Given the description of an element on the screen output the (x, y) to click on. 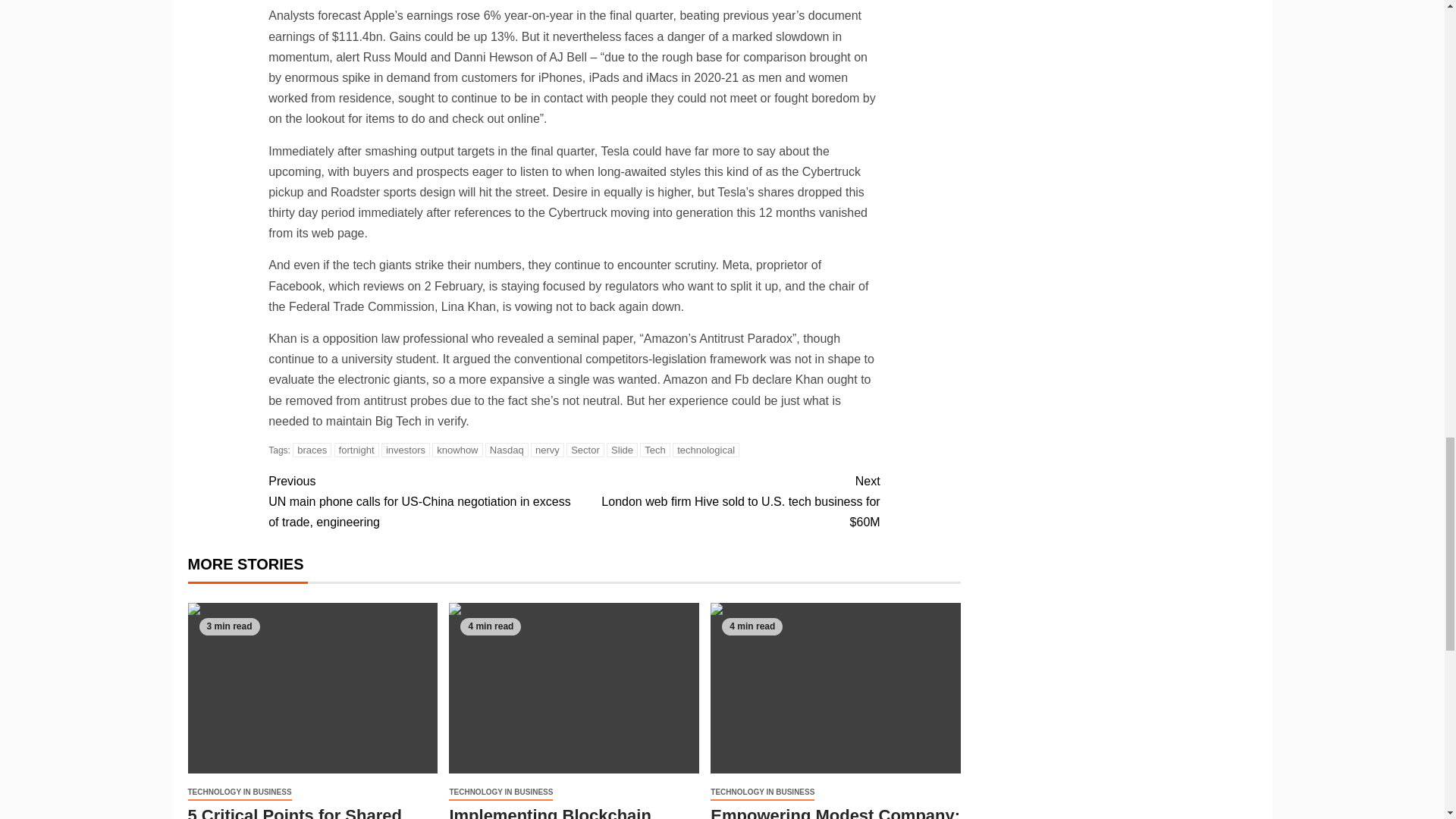
technological (705, 450)
Implementing Blockchain Technology In Financial Management (573, 687)
nervy (547, 450)
fortnight (356, 450)
5 Critical Points for Shared Hosting Security Checks (312, 687)
Tech (654, 450)
knowhow (456, 450)
Slide (622, 450)
Nasdaq (506, 450)
braces (311, 450)
Sector (585, 450)
investors (405, 450)
